Given the description of an element on the screen output the (x, y) to click on. 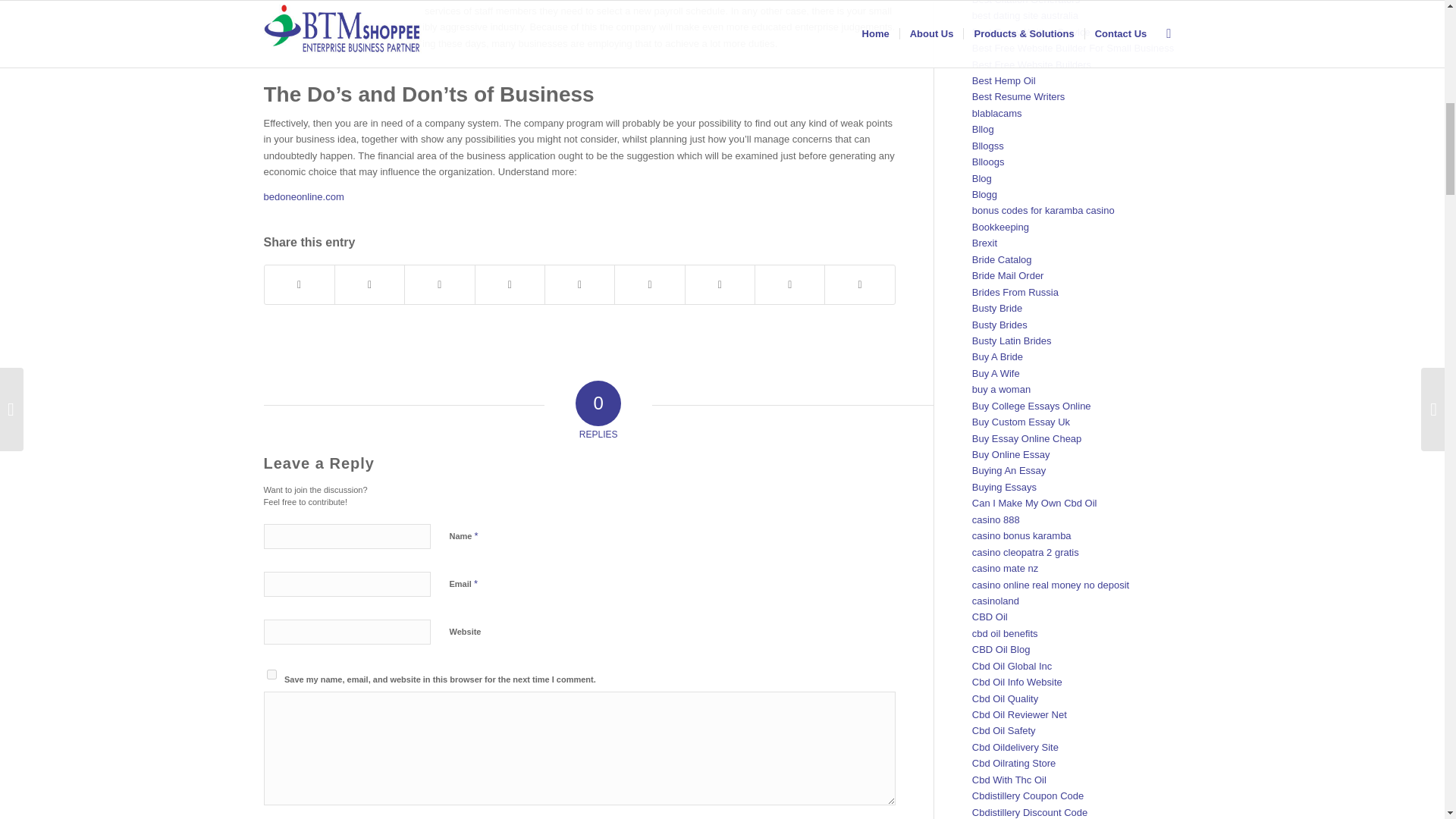
bedoneonline.com (303, 196)
yes (271, 674)
